Given the description of an element on the screen output the (x, y) to click on. 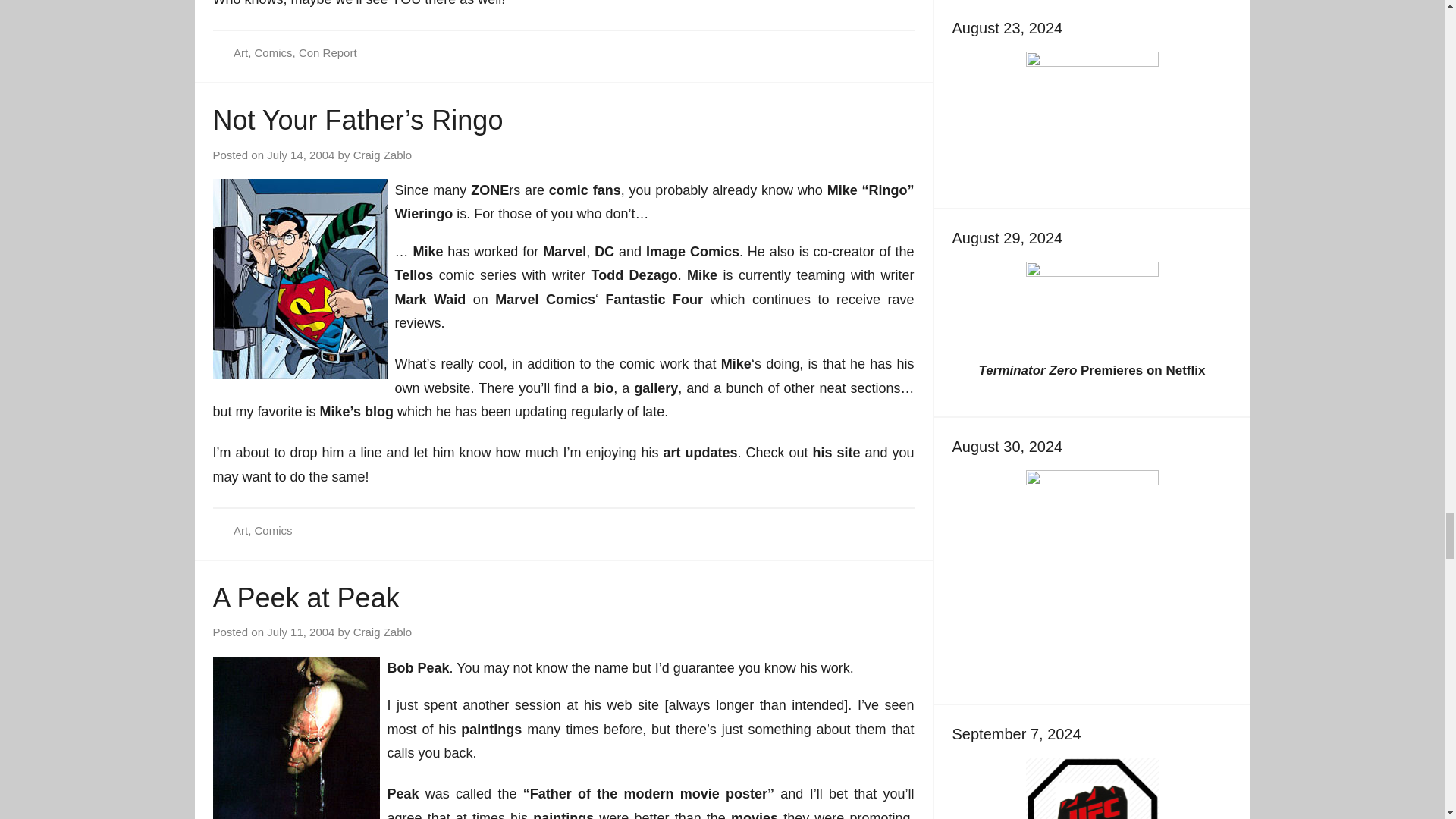
View all posts by Craig Zablo (382, 632)
View all posts by Craig Zablo (382, 155)
